Given the description of an element on the screen output the (x, y) to click on. 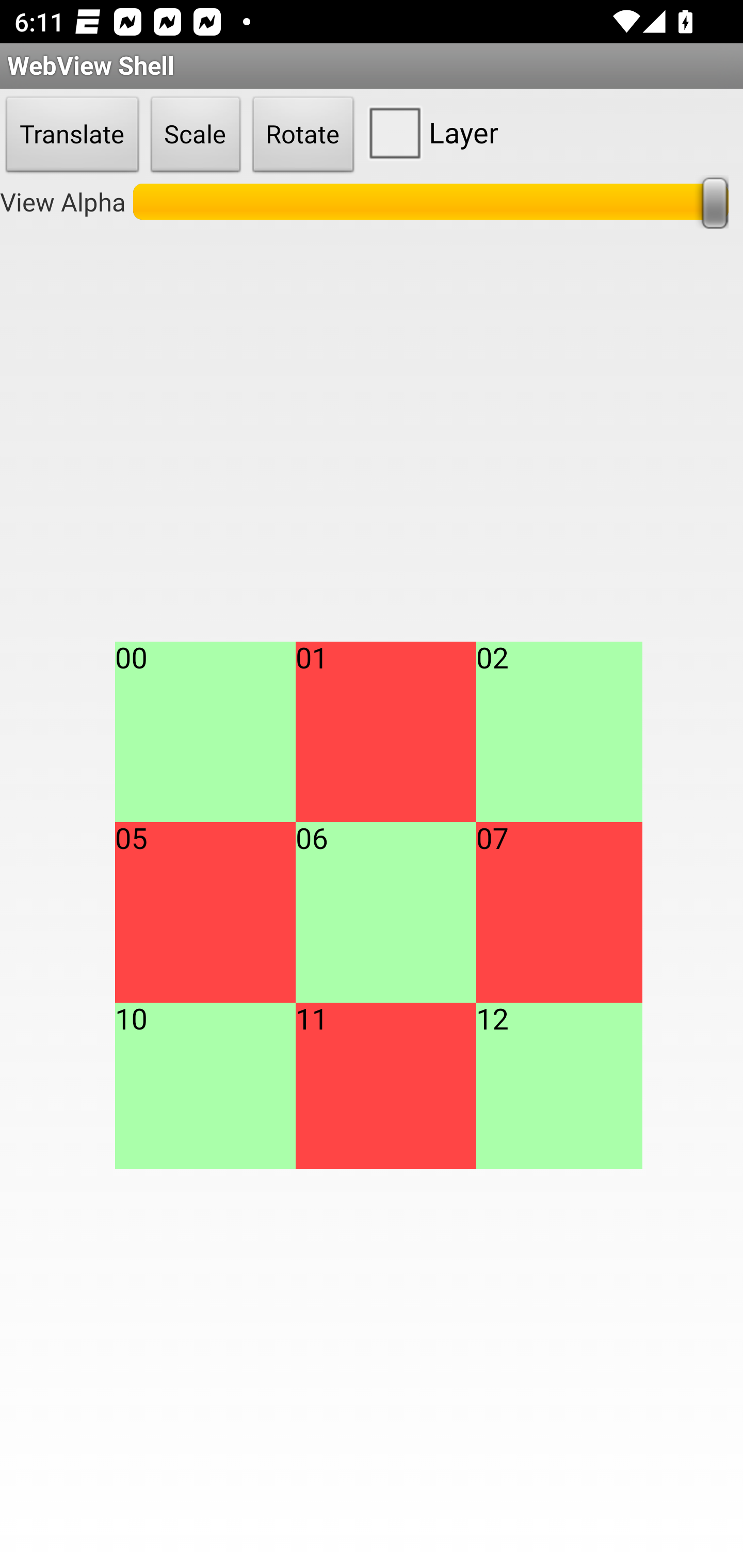
Layer (429, 132)
Translate (72, 135)
Scale (195, 135)
Rotate (303, 135)
